Given the description of an element on the screen output the (x, y) to click on. 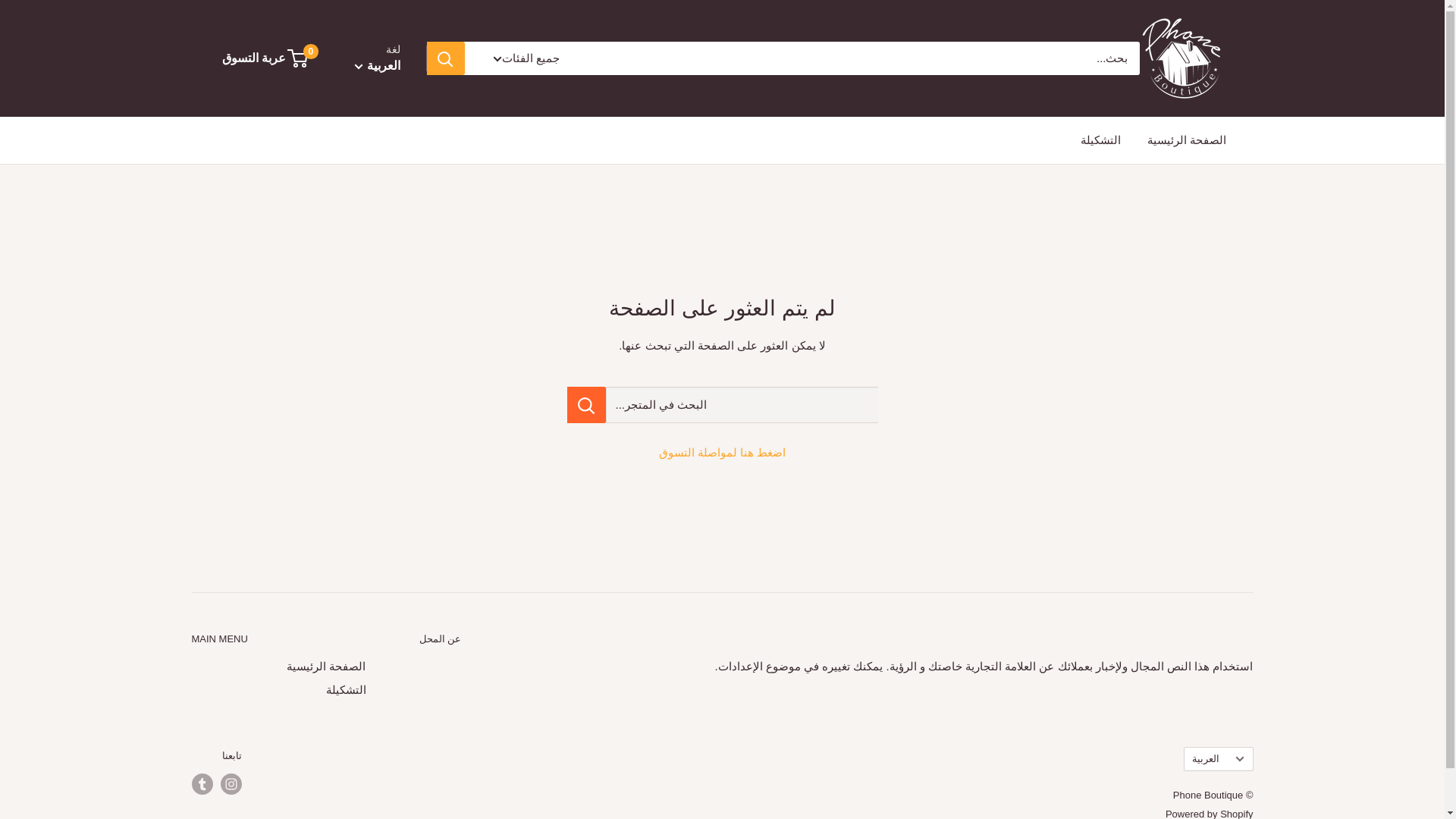
ar (386, 127)
en (1219, 701)
Powered by Shopify (1209, 813)
en (386, 105)
MAIN MENU (277, 638)
ar (1219, 721)
